Given the description of an element on the screen output the (x, y) to click on. 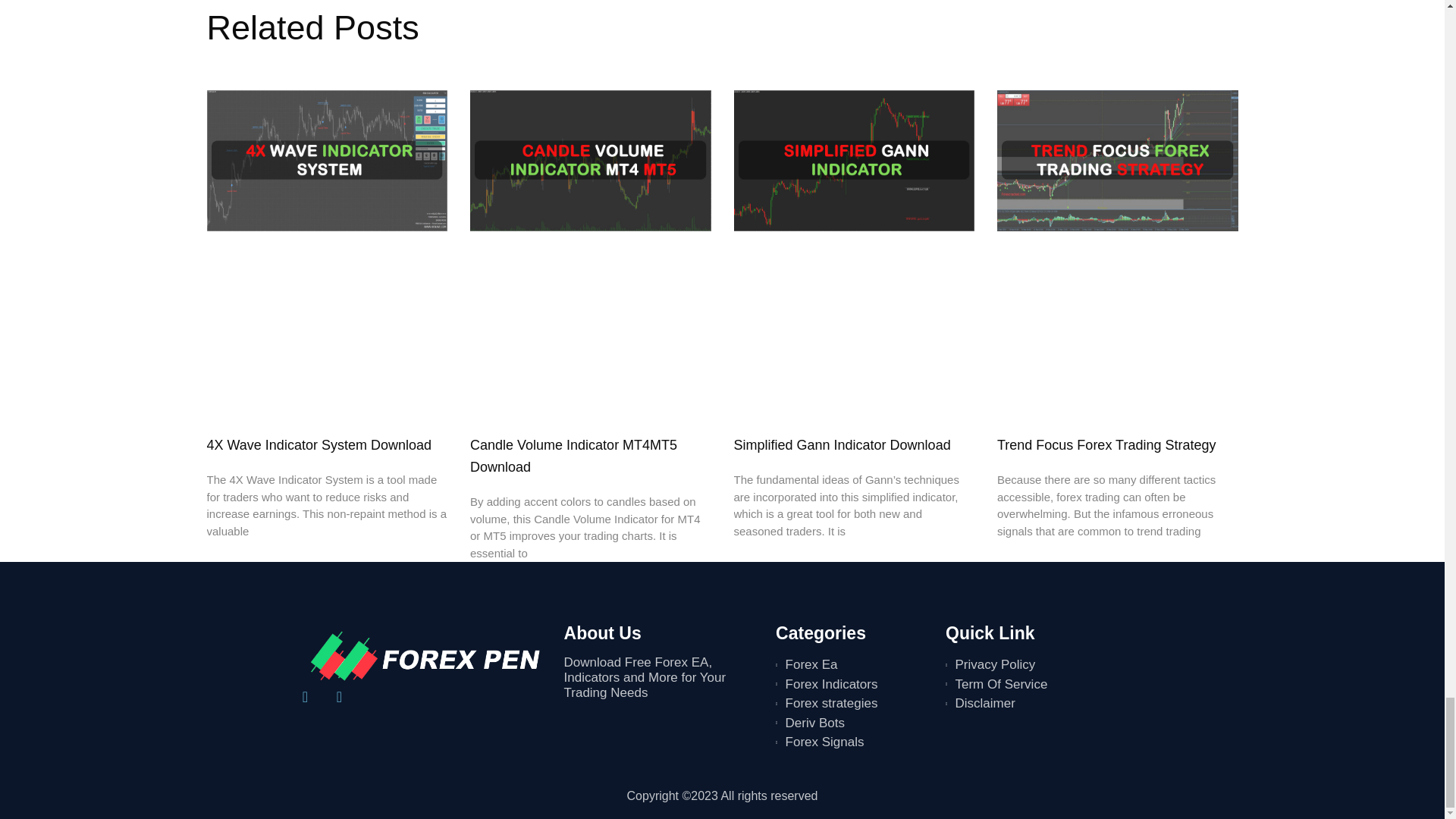
Simplified Gann Indicator Download (841, 444)
4X Wave Indicator System Download (318, 444)
Candle Volume Indicator MT4MT5 Download (573, 456)
